Given the description of an element on the screen output the (x, y) to click on. 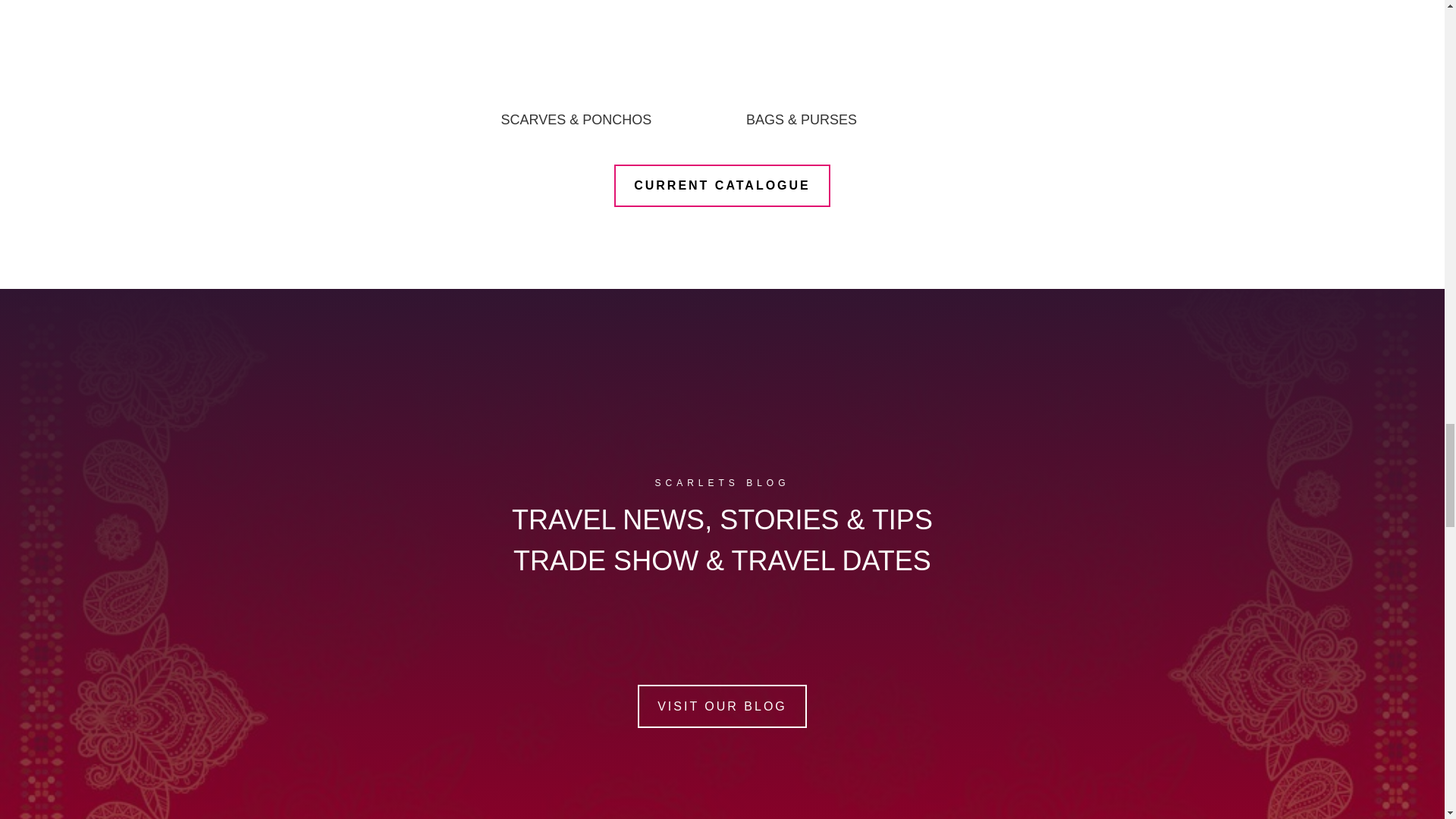
VISIT OUR BLOG (722, 706)
CURRENT CATALOGUE (721, 186)
